Given the description of an element on the screen output the (x, y) to click on. 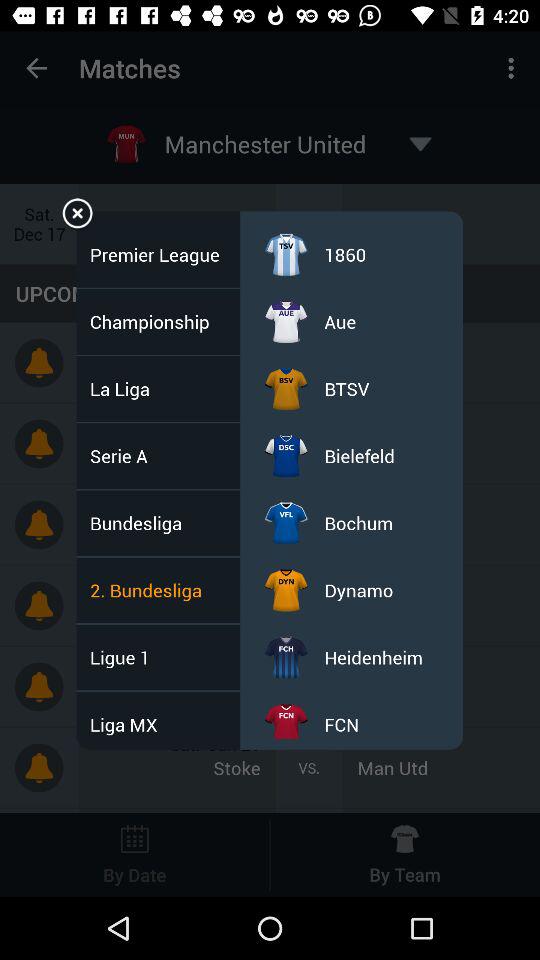
jump to the 2. bundesliga (152, 589)
